Given the description of an element on the screen output the (x, y) to click on. 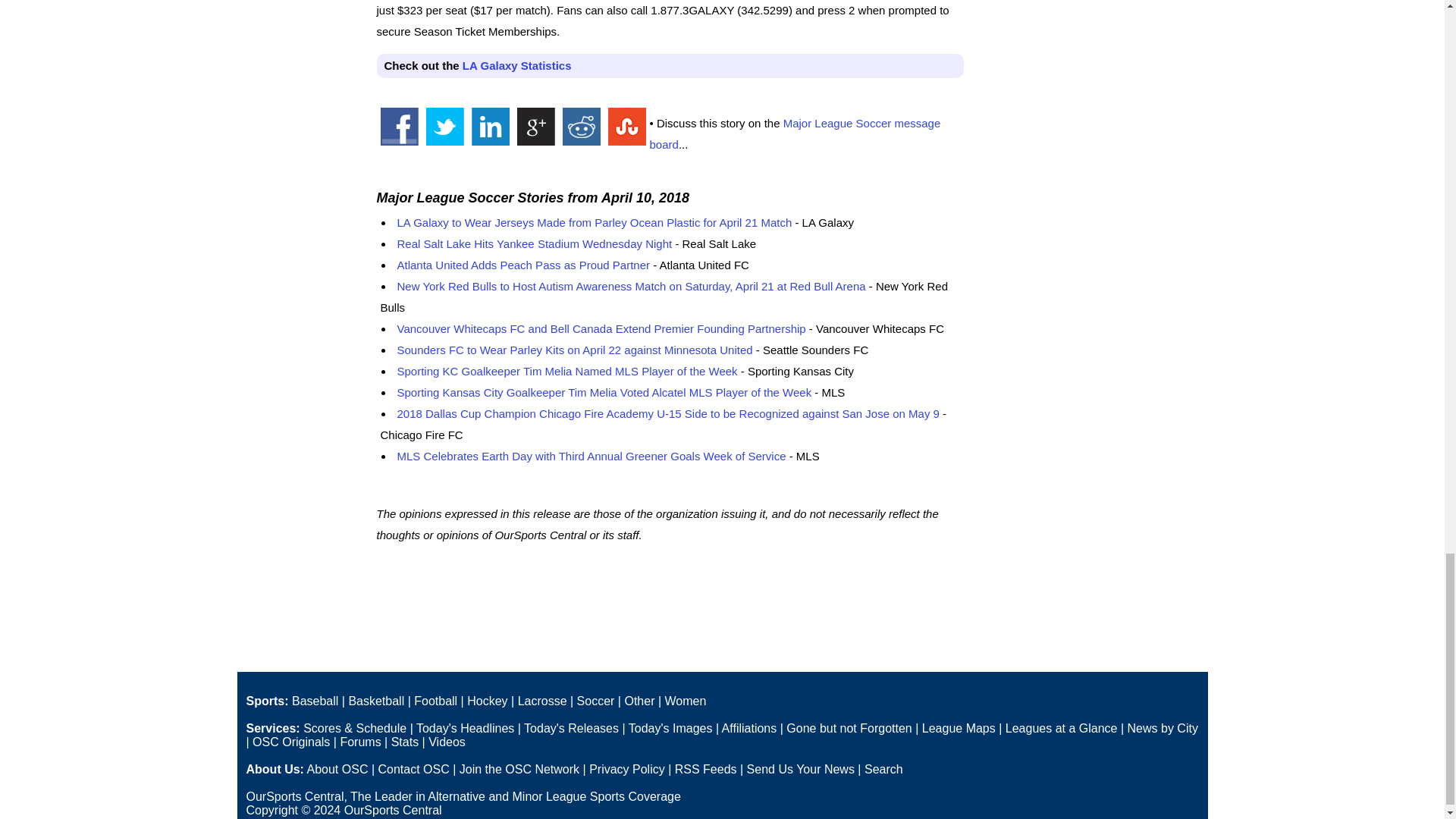
Today's Headlines (464, 727)
Today's Releases (571, 727)
Today's Images (670, 727)
Gone but not Forgotten (848, 727)
League Maps (958, 727)
News by City (1162, 727)
Leagues at a Glance (1062, 727)
Affiliations (749, 727)
